Given the description of an element on the screen output the (x, y) to click on. 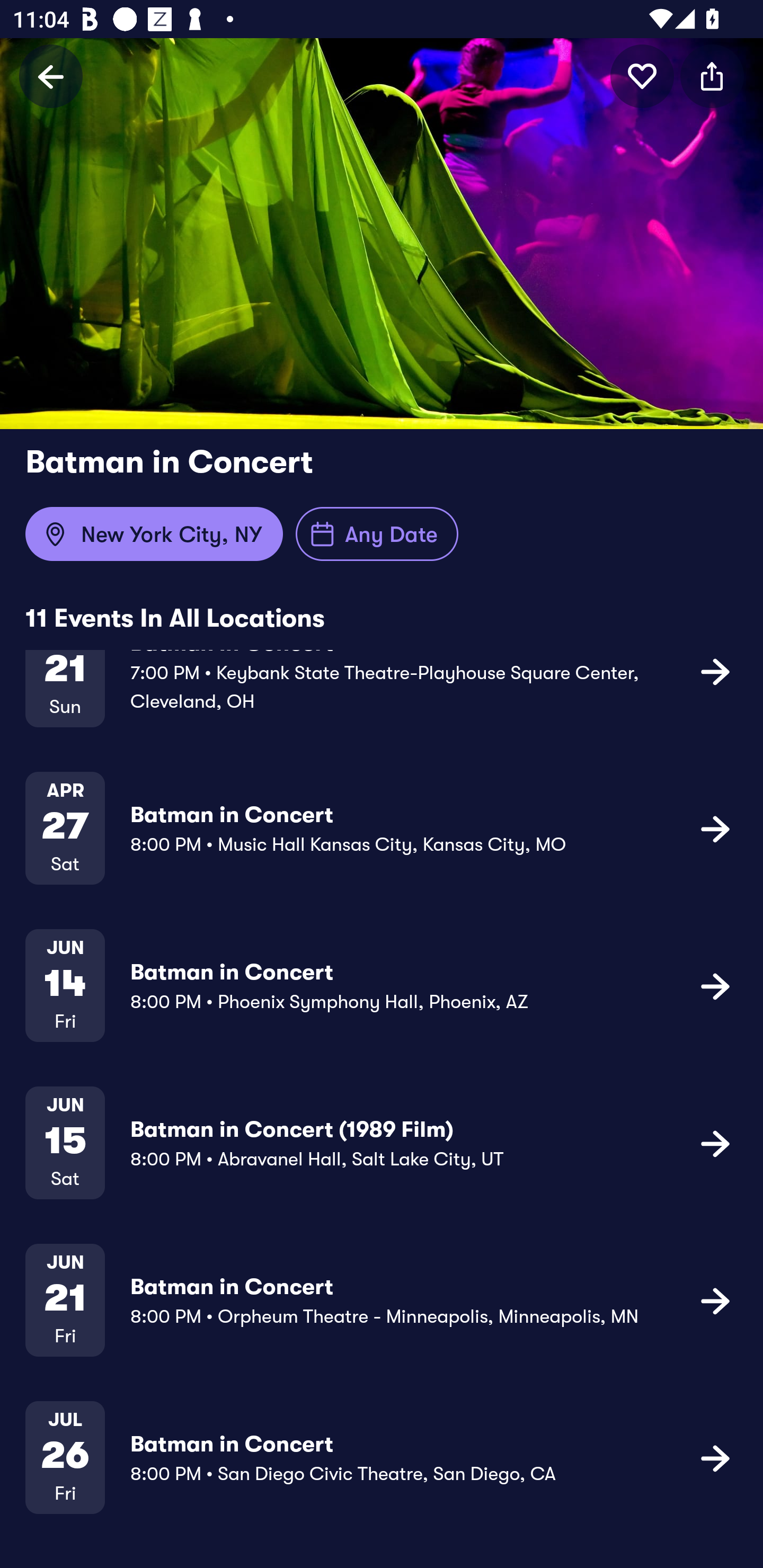
Back (50, 75)
icon button (641, 75)
icon button (711, 75)
New York City, NY (153, 533)
Any Date (377, 533)
icon button (714, 671)
icon button (714, 828)
icon button (714, 986)
icon button (714, 1143)
icon button (714, 1300)
icon button (714, 1458)
